Given the description of an element on the screen output the (x, y) to click on. 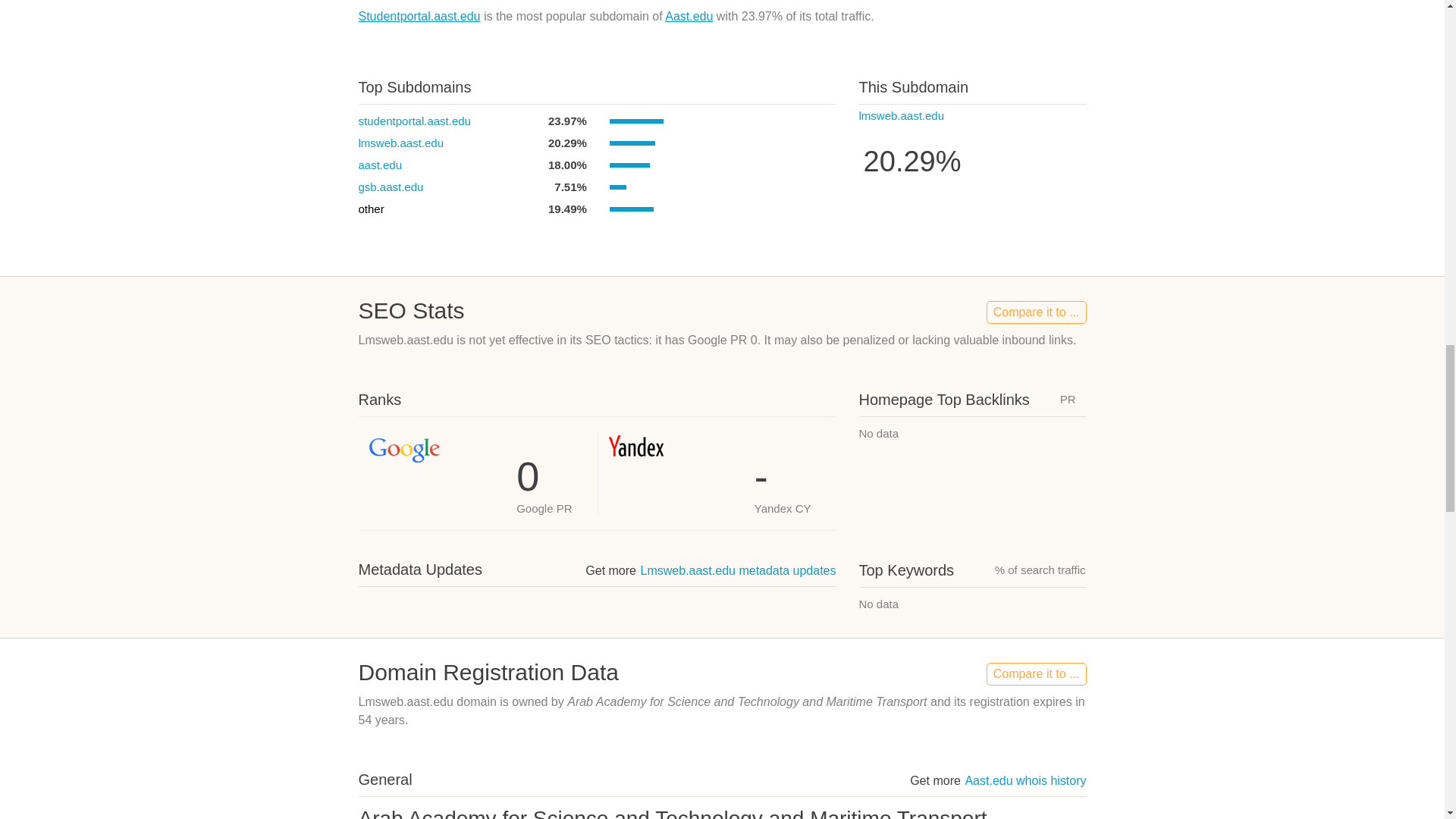
aast.edu (379, 164)
lmsweb.aast.edu (901, 115)
Compare it to ... (1036, 673)
Compare it to ... (1036, 312)
Studentportal.aast.edu (419, 15)
Aast.edu whois history (1024, 780)
Lmsweb.aast.edu metadata updates (737, 570)
lmsweb.aast.edu (401, 142)
Aast.edu (689, 15)
studentportal.aast.edu (414, 120)
gsb.aast.edu (390, 186)
